Given the description of an element on the screen output the (x, y) to click on. 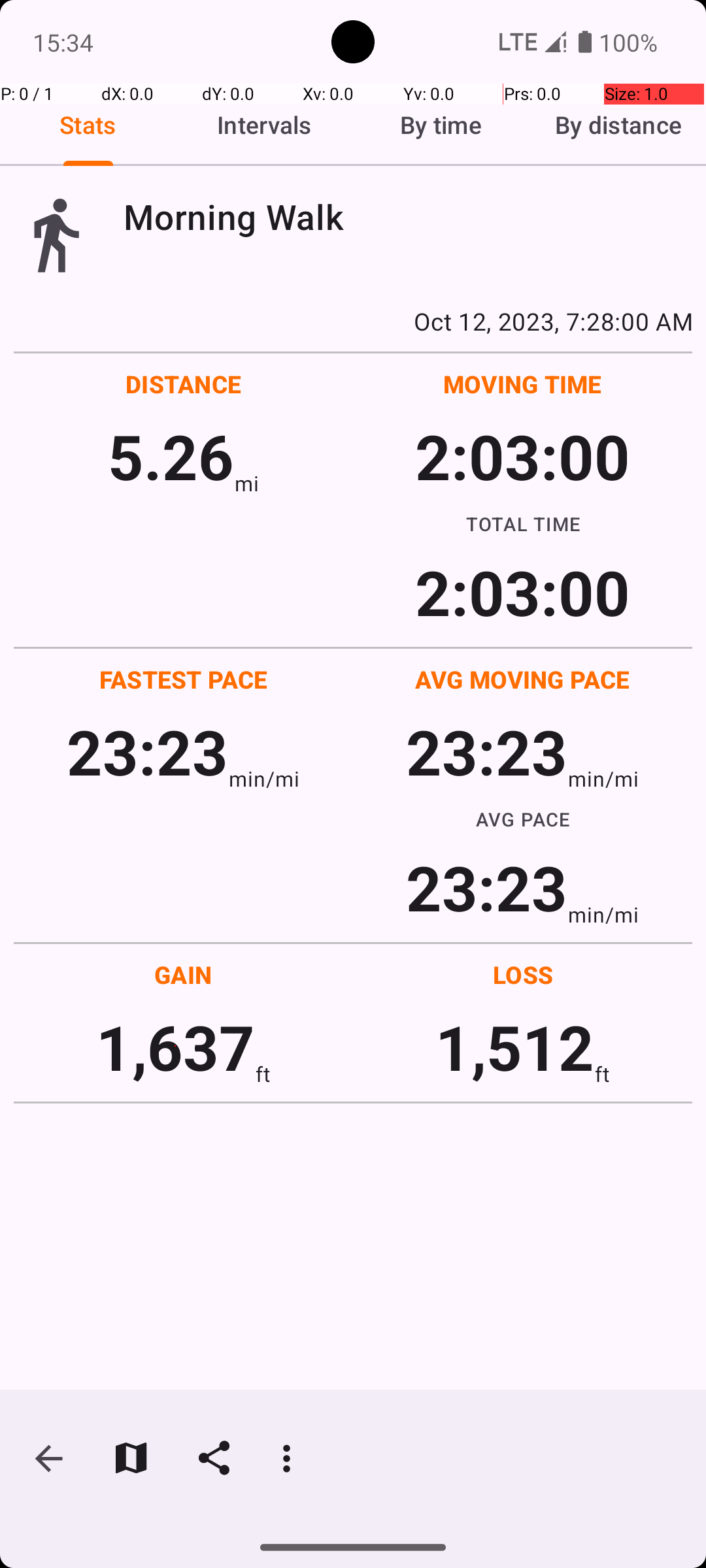
Morning Walk Element type: android.widget.TextView (407, 216)
Oct 12, 2023, 7:28:00 AM Element type: android.widget.TextView (352, 320)
5.26 Element type: android.widget.TextView (170, 455)
2:03:00 Element type: android.widget.TextView (522, 455)
23:23 Element type: android.widget.TextView (147, 750)
1,637 Element type: android.widget.TextView (175, 1045)
1,512 Element type: android.widget.TextView (514, 1045)
